Given the description of an element on the screen output the (x, y) to click on. 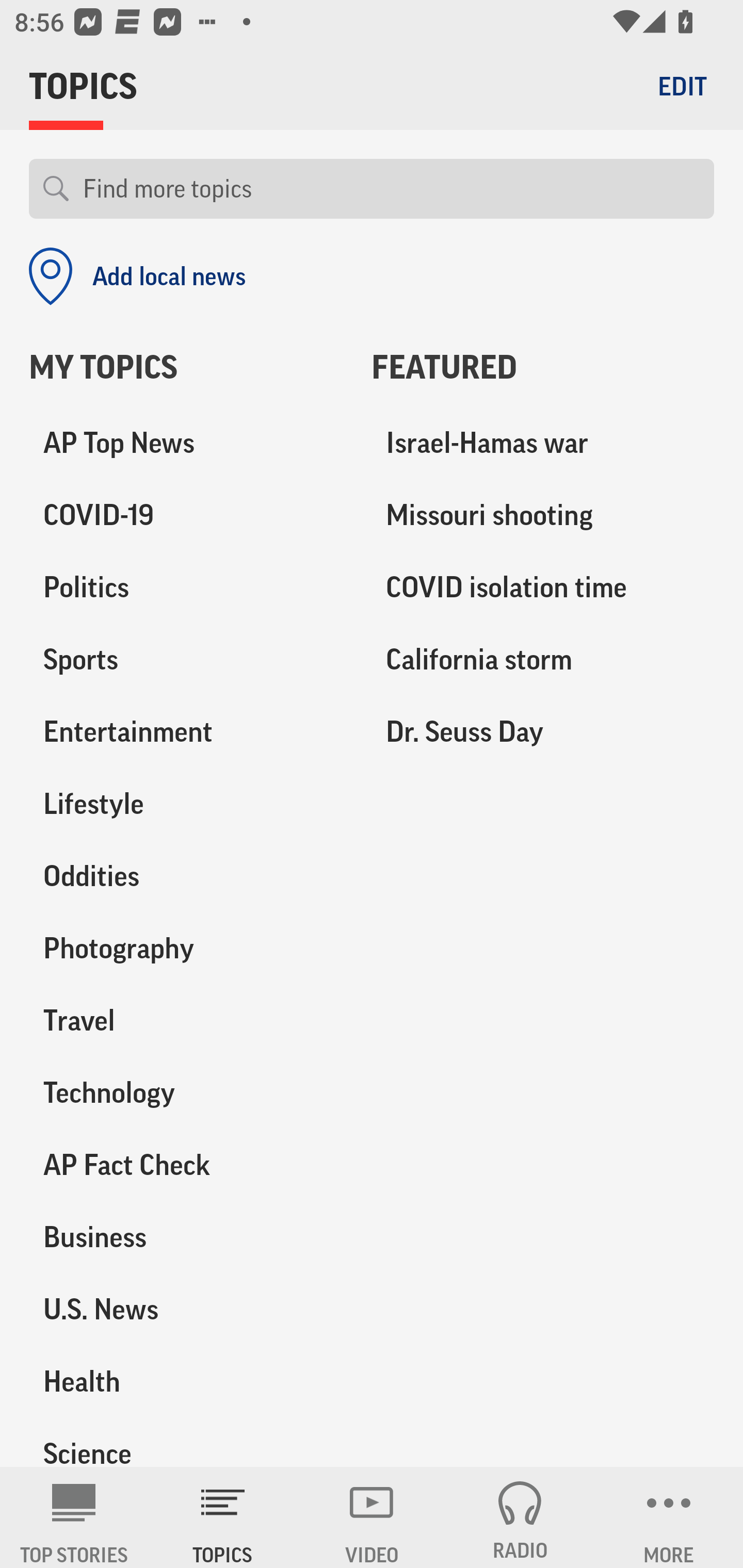
EDIT (682, 86)
Find more topics (391, 188)
Add local news (137, 276)
AP Top News (185, 443)
Israel-Hamas war (542, 443)
COVID-19 (185, 515)
Missouri shooting (542, 515)
Politics (185, 587)
COVID isolation time (542, 587)
Sports (185, 660)
California storm (542, 660)
Entertainment (185, 732)
Dr. Seuss Day (542, 732)
Lifestyle (185, 804)
Oddities (185, 876)
Photography (185, 948)
Travel (185, 1020)
Technology (185, 1092)
AP Fact Check (185, 1164)
Business (185, 1237)
U.S. News (185, 1309)
Health (185, 1381)
Science (185, 1442)
AP News TOP STORIES (74, 1517)
TOPICS (222, 1517)
VIDEO (371, 1517)
RADIO (519, 1517)
MORE (668, 1517)
